Given the description of an element on the screen output the (x, y) to click on. 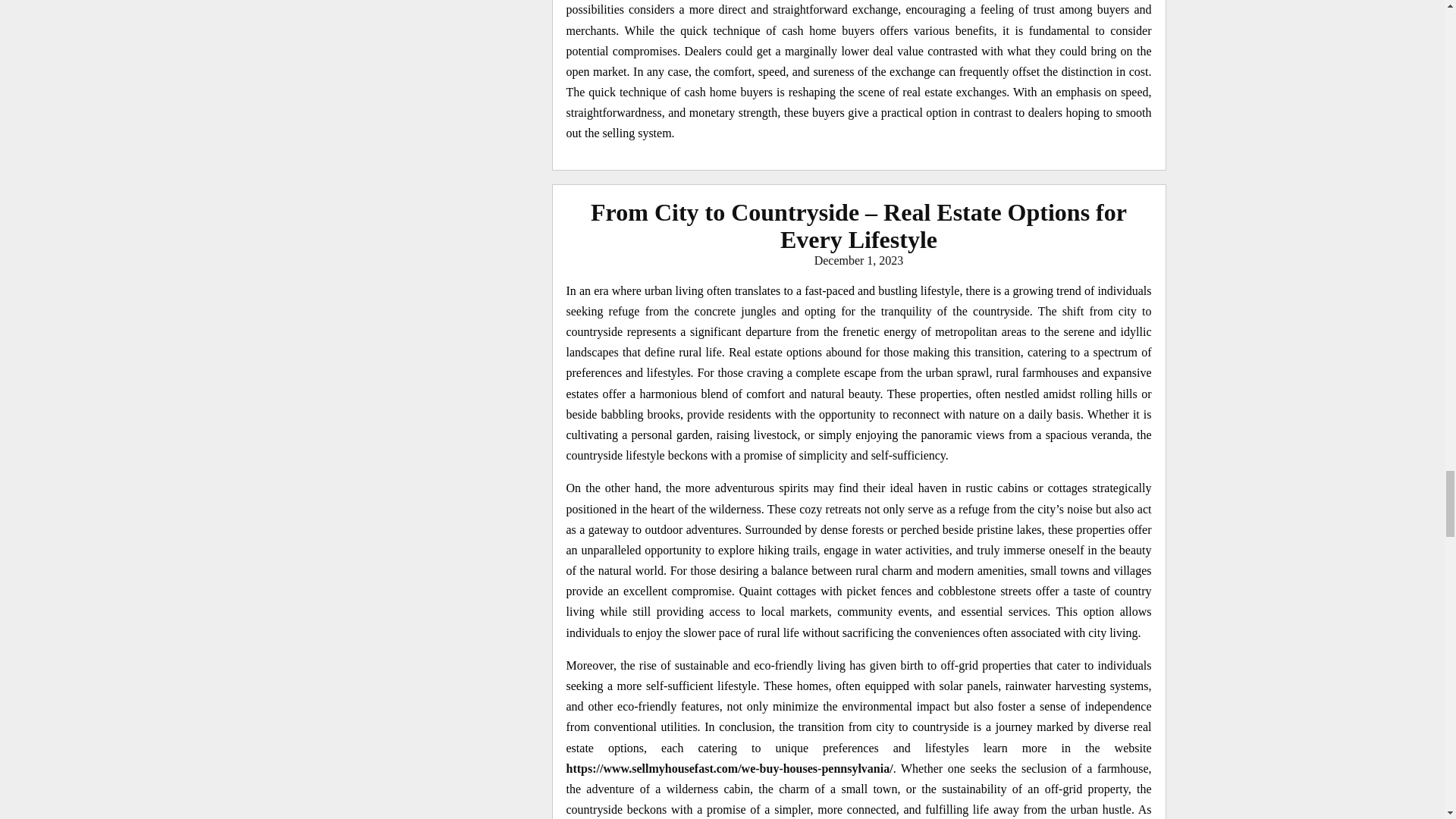
December 1, 2023 (858, 259)
